Given the description of an element on the screen output the (x, y) to click on. 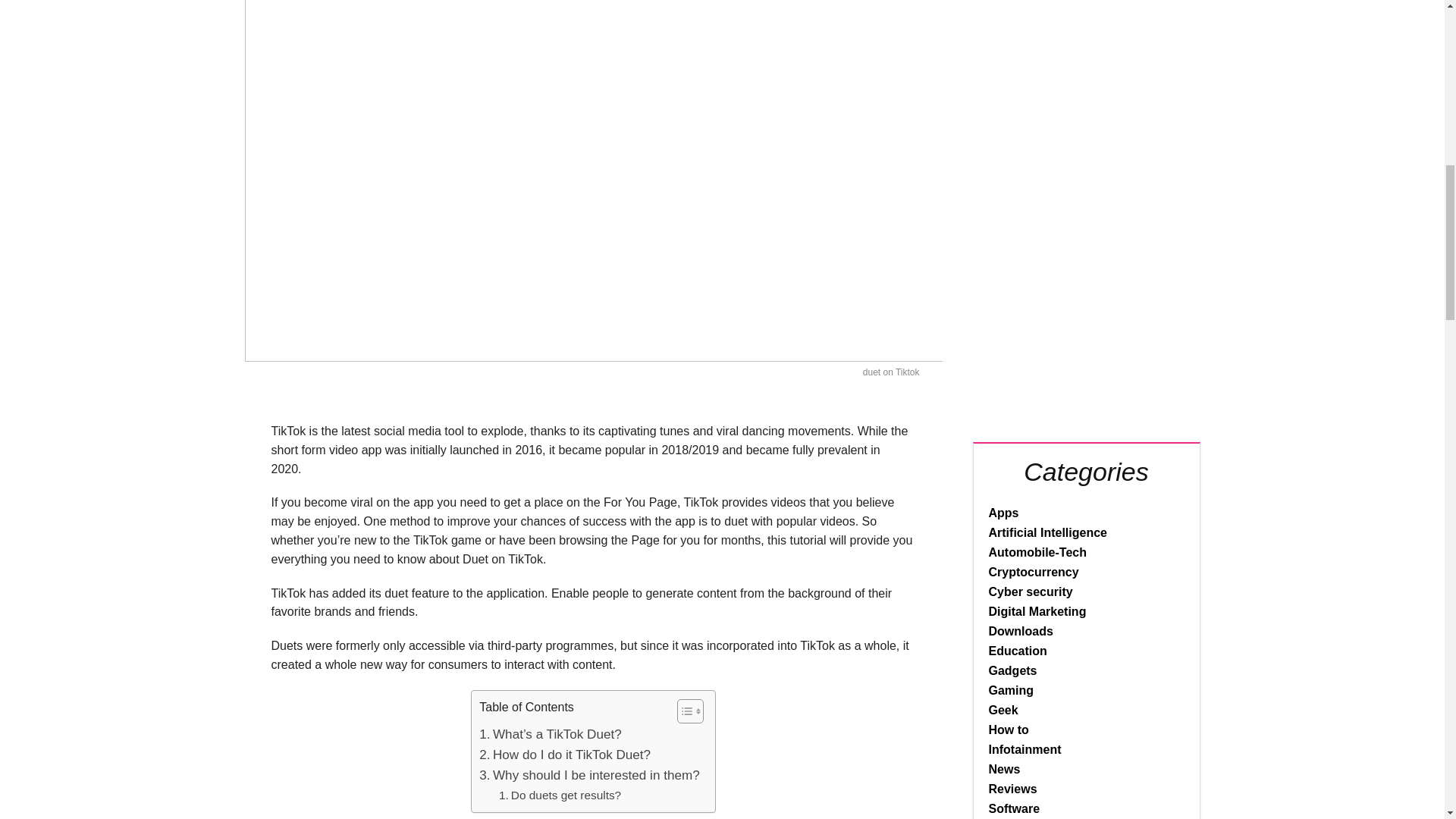
Do duets get results? (560, 795)
How do I do it TikTok Duet? (564, 754)
Why should I be interested in them? (588, 774)
